Given the description of an element on the screen output the (x, y) to click on. 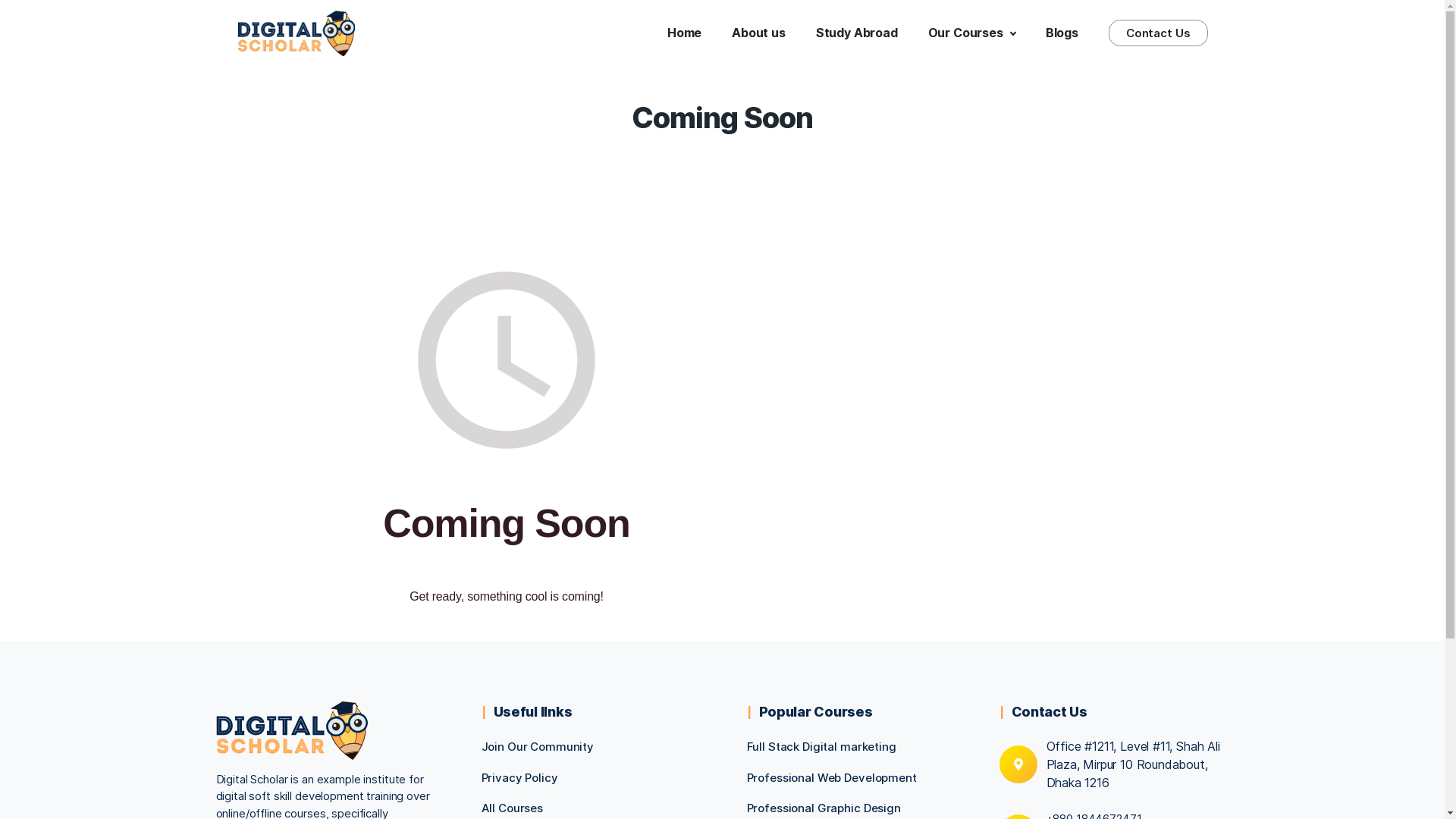
Professional Graphic Design Element type: text (823, 807)
About us Element type: text (758, 32)
All Courses Element type: text (511, 807)
Full Stack Digital marketing Element type: text (820, 746)
Blogs Element type: text (1061, 32)
Contact Us Element type: text (1158, 32)
Privacy Policy Element type: text (518, 777)
Our Courses Element type: text (971, 32)
Join Our Community Element type: text (536, 746)
Professional Web Development Element type: text (831, 777)
Home Element type: text (684, 32)
Study Abroad Element type: text (856, 32)
